Given the description of an element on the screen output the (x, y) to click on. 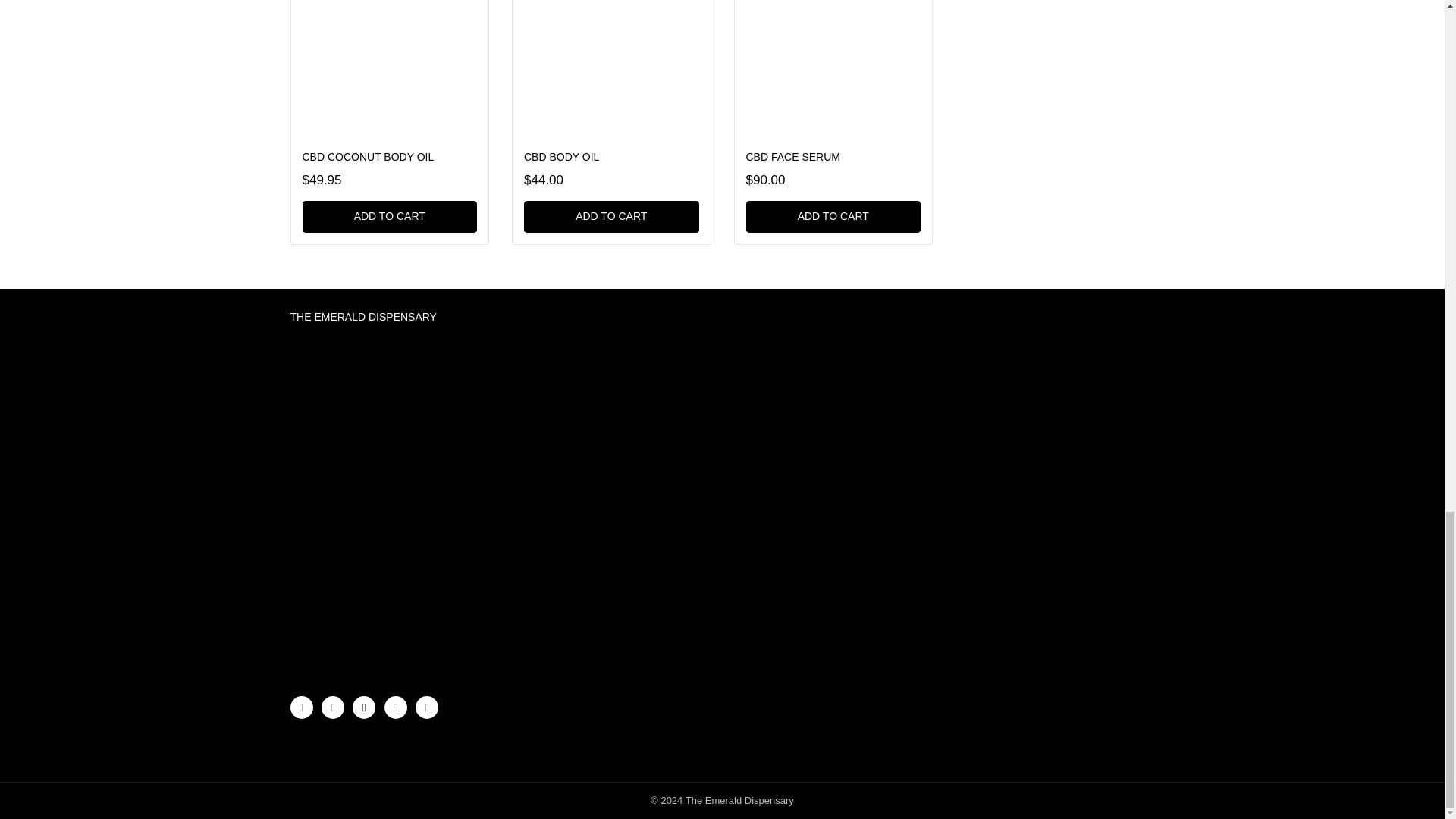
ADD TO CART (611, 216)
ADD TO CART (833, 216)
ADD TO CART (389, 216)
